Given the description of an element on the screen output the (x, y) to click on. 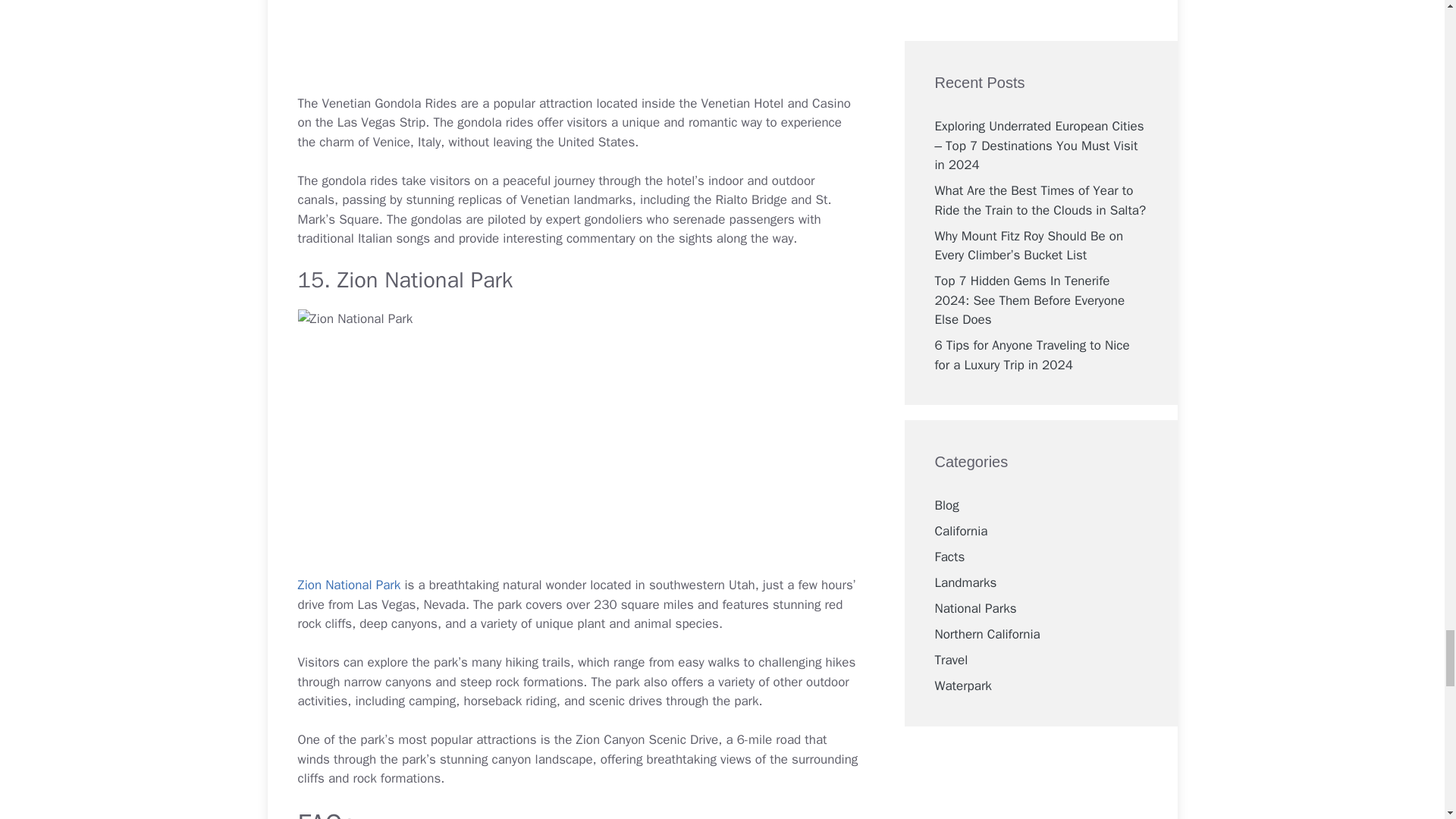
Zion National Park (348, 584)
